Given the description of an element on the screen output the (x, y) to click on. 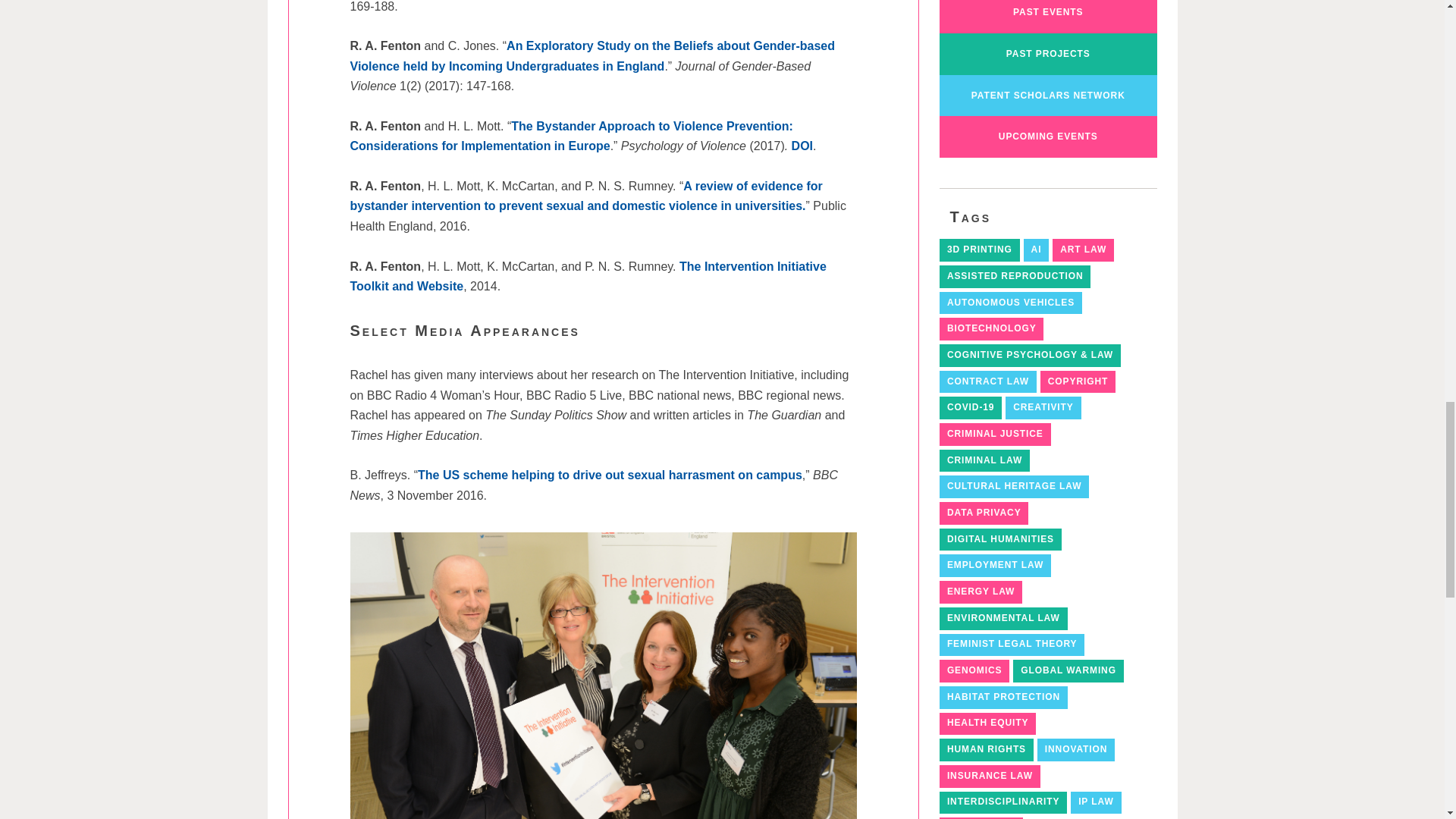
DOI (802, 145)
The Intervention Initiative Toolkit and Website (588, 276)
